Given the description of an element on the screen output the (x, y) to click on. 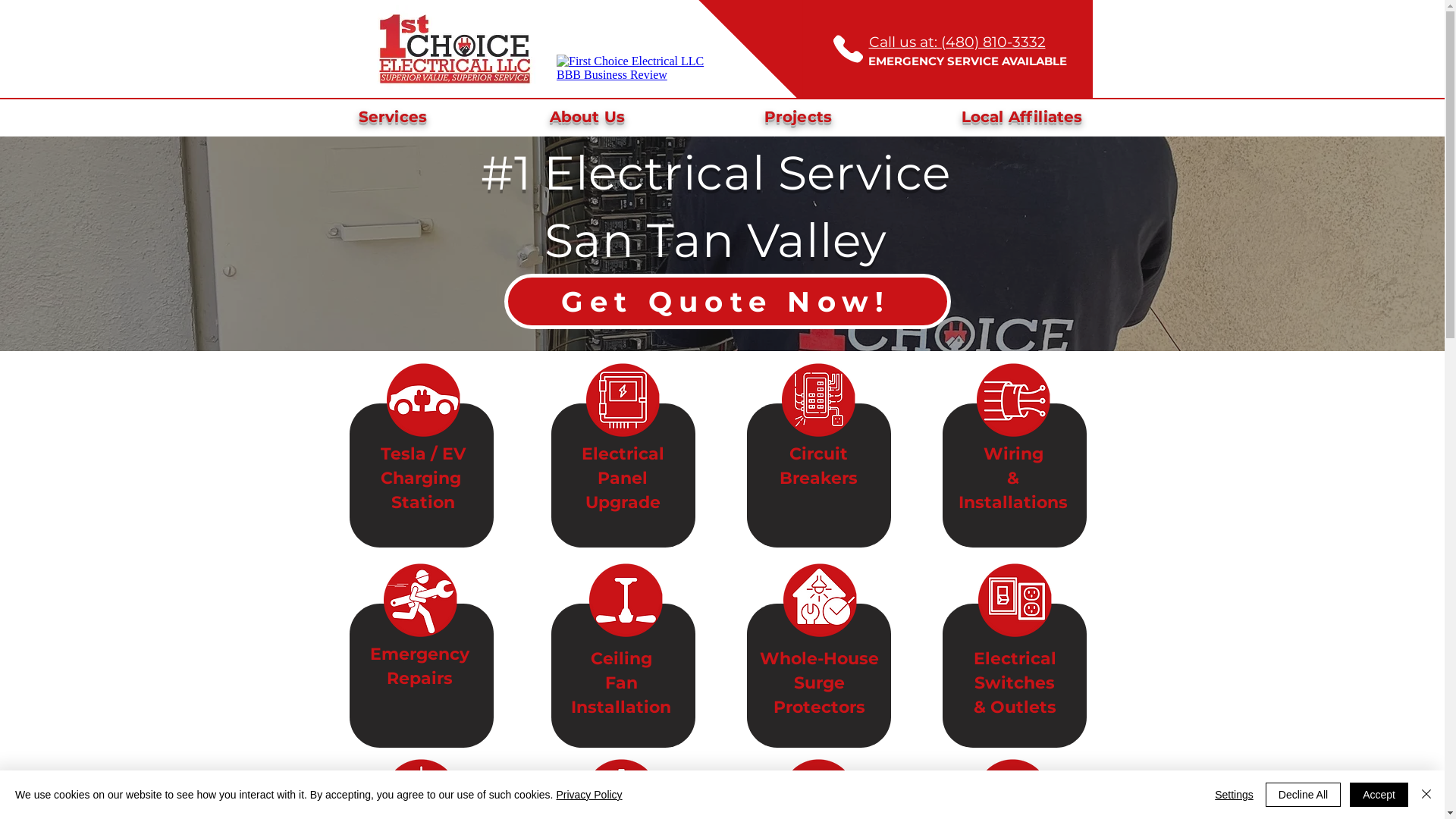
Tesla / EV
Charging 
Station Element type: text (422, 476)
Accept Element type: text (1378, 794)
Decline All Element type: text (1302, 794)
Whole-House
Surge
Protectors Element type: text (818, 681)
Circuit
Breakers Element type: text (818, 464)
Get Quote Now! Element type: text (726, 301)
Privacy Policy Element type: text (588, 794)
Wiring
&
Installations Element type: text (1012, 476)
Electrical
Panel
Upgrade Element type: text (621, 476)
Projects Element type: text (798, 115)
Call us at: (480) 810-3332 Element type: text (957, 41)
Services Element type: text (391, 115)
Emergency
Repairs Element type: text (419, 665)
Embedded Content Element type: hover (633, 70)
About Us Element type: text (586, 115)
Ceiling
Fan
Installation Element type: text (621, 681)
Local Affiliates Element type: text (1021, 115)
Electrical
Switches
& Outlets Element type: text (1014, 681)
